Given the description of an element on the screen output the (x, y) to click on. 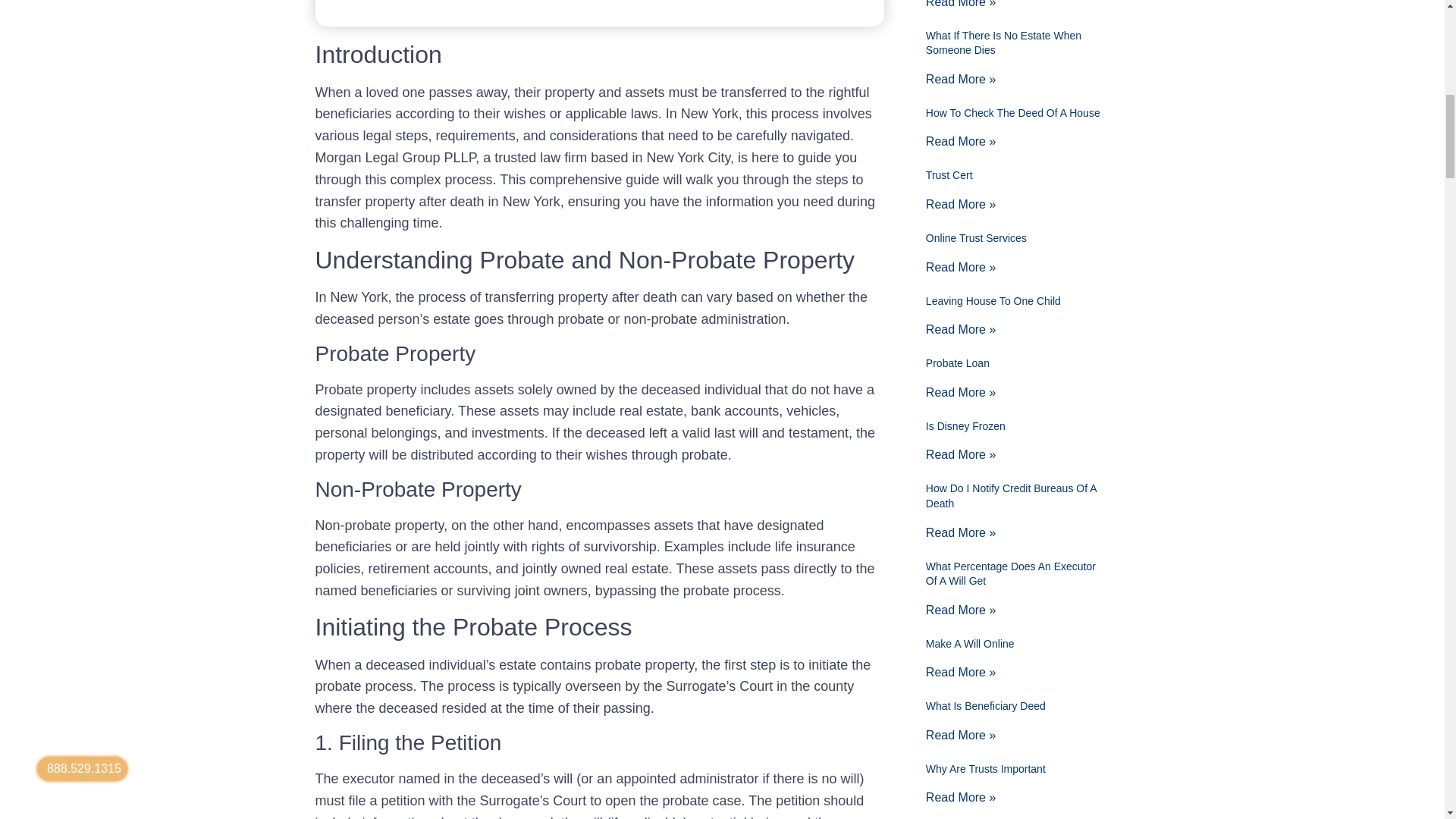
How To Check The Deed Of A House (1013, 112)
What If There Is No Estate When Someone Dies (1003, 42)
Trust Cert (949, 174)
